Given the description of an element on the screen output the (x, y) to click on. 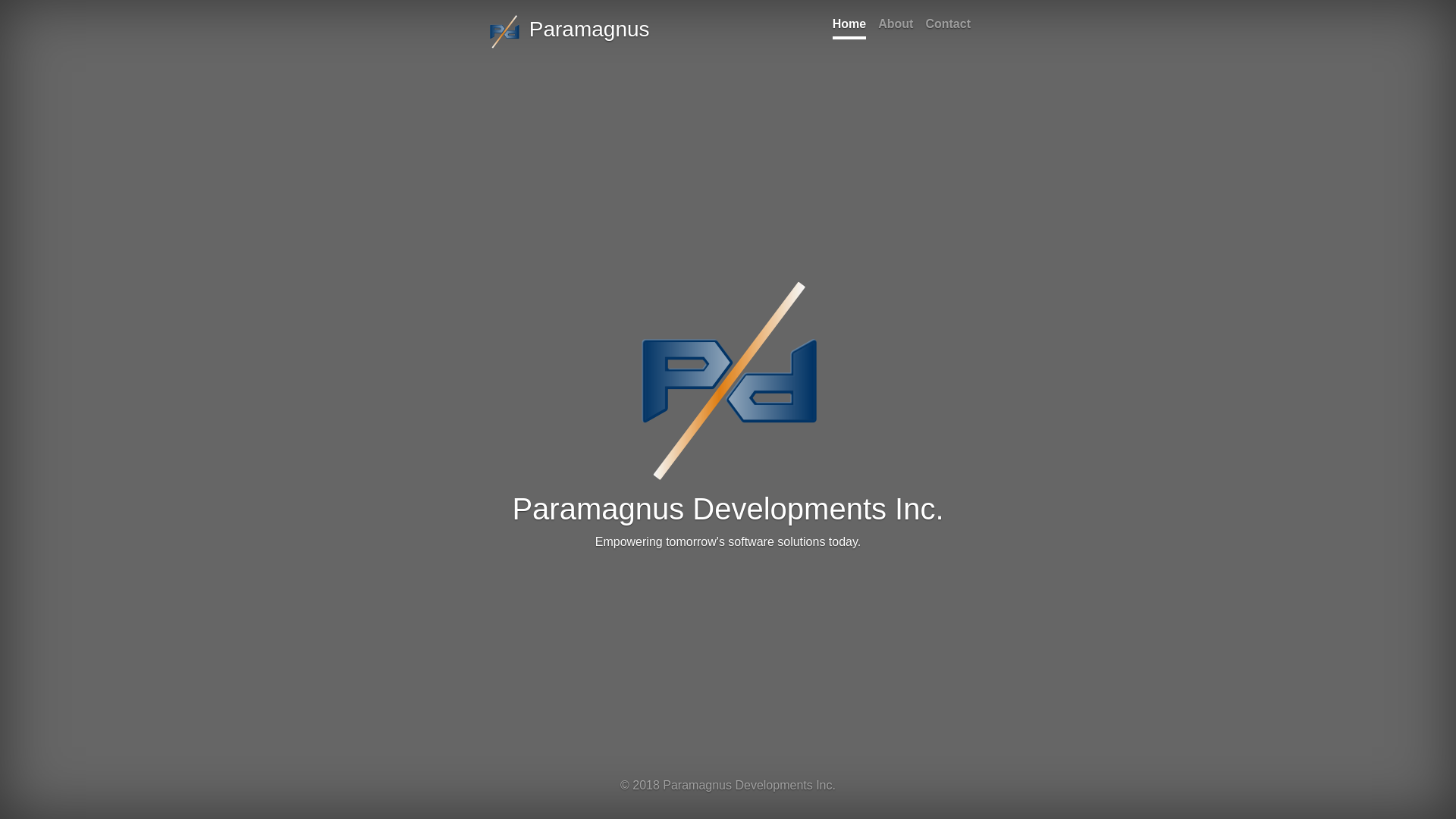
Home Element type: text (849, 25)
About Element type: text (895, 25)
Contact Element type: text (947, 25)
